Given the description of an element on the screen output the (x, y) to click on. 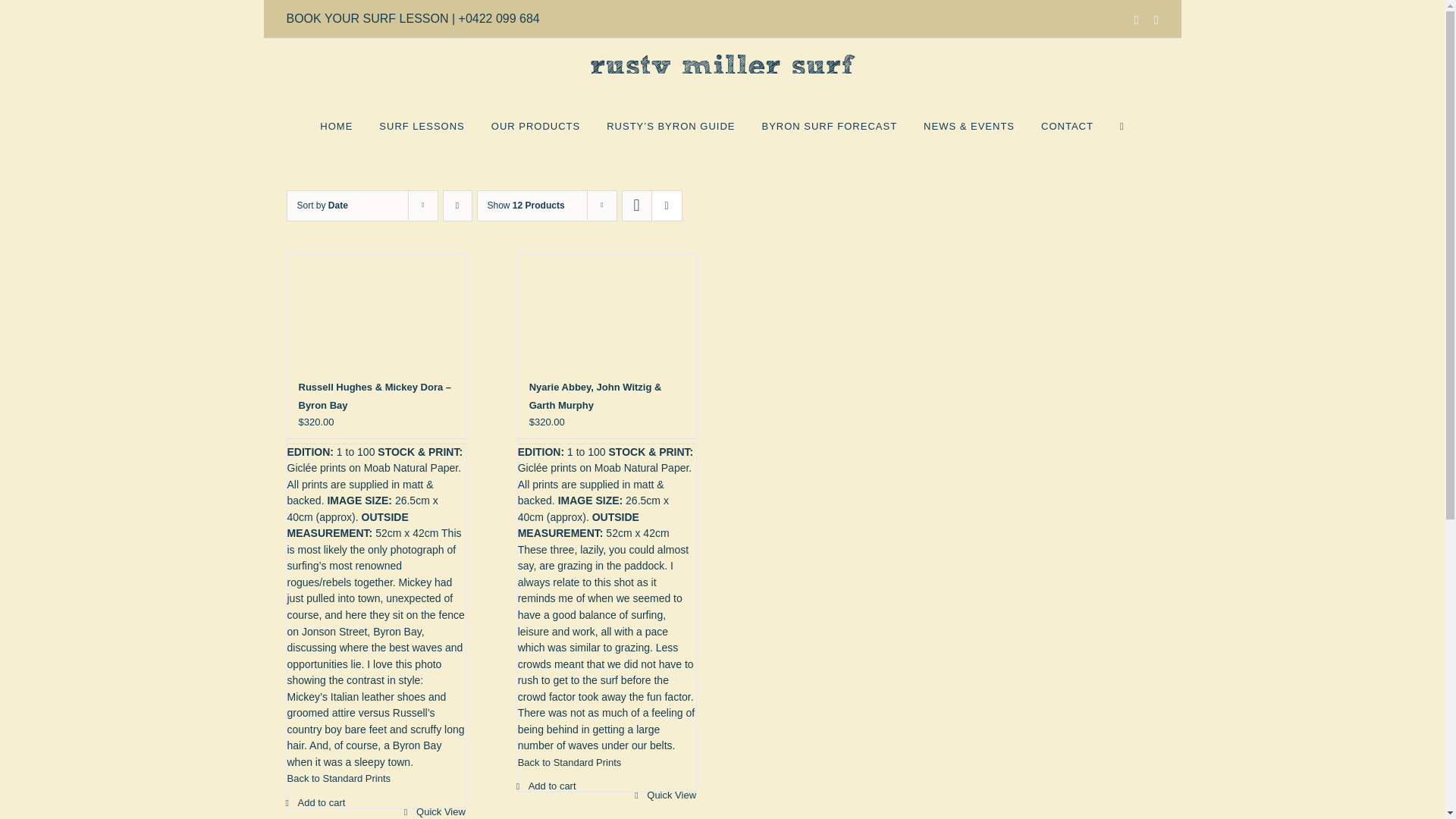
SURF LESSONS (421, 125)
Sort by Date (322, 204)
BYRON SURF FORECAST (828, 125)
CONTACT (1067, 125)
Show 12 Products (525, 204)
OUR PRODUCTS (535, 125)
